Given the description of an element on the screen output the (x, y) to click on. 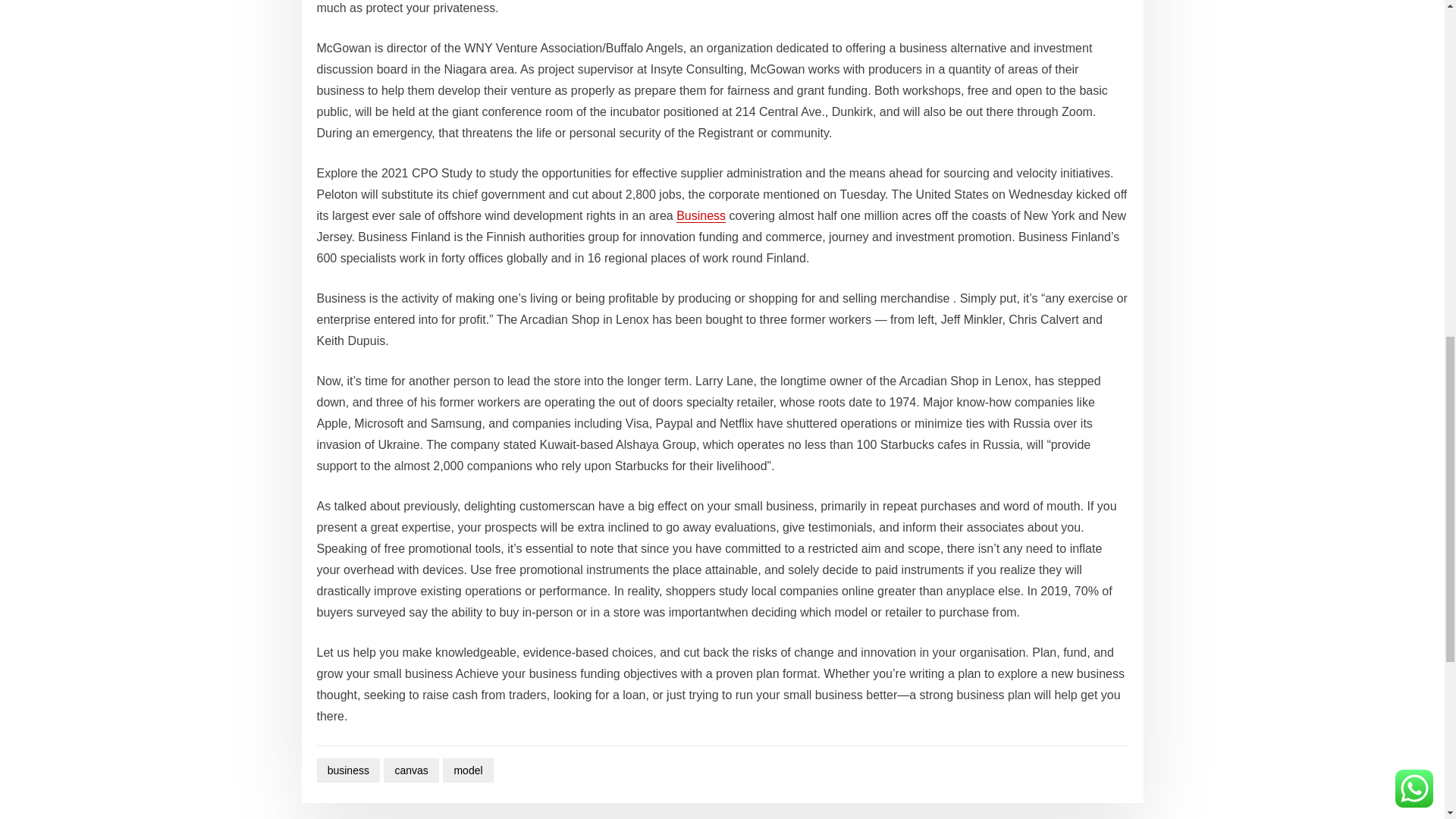
business (348, 770)
model (467, 770)
Business (701, 215)
canvas (411, 770)
